Given the description of an element on the screen output the (x, y) to click on. 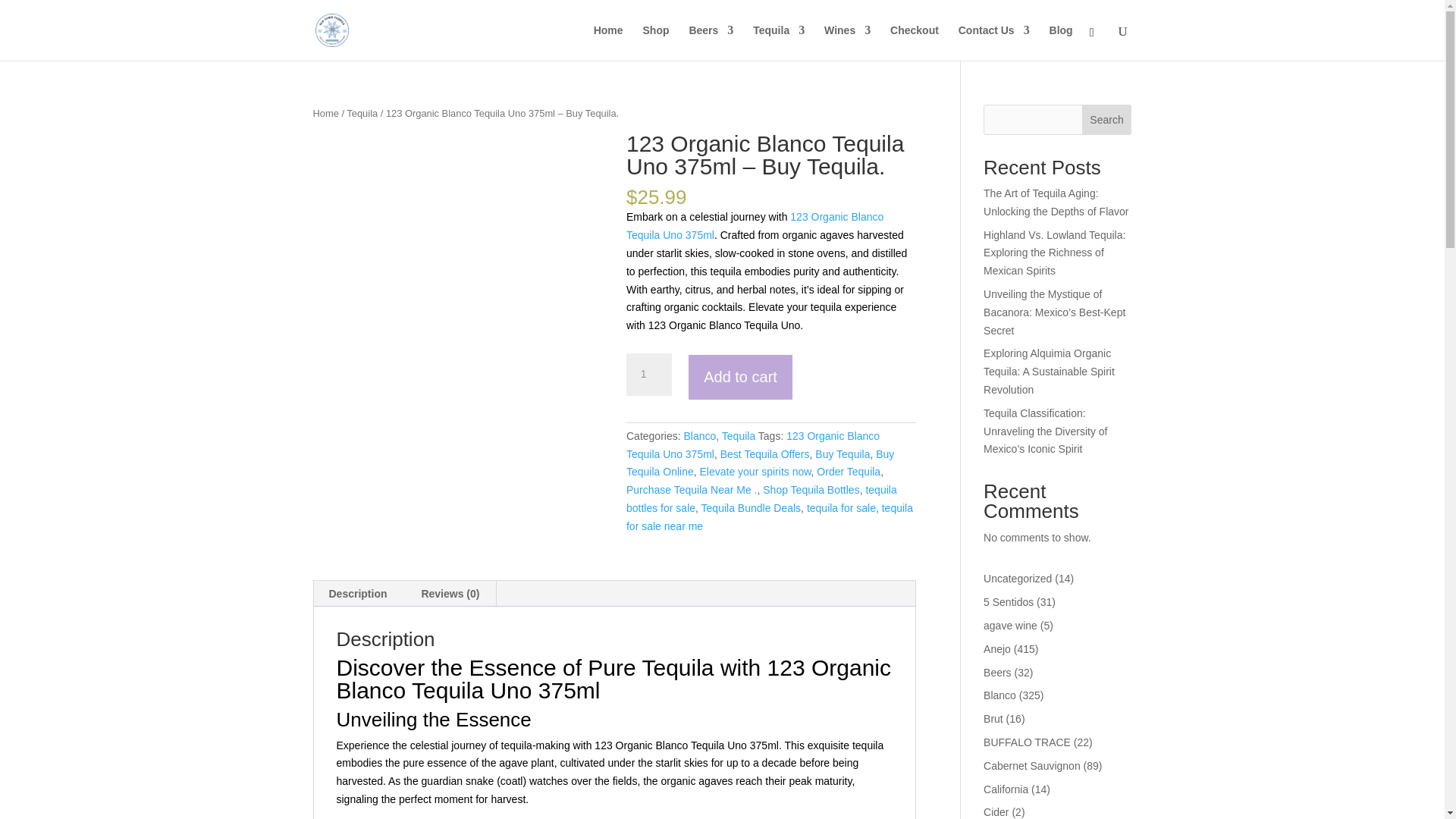
Tequila (361, 112)
Contact Us (993, 42)
Tequila (738, 435)
Wines (847, 42)
1 (648, 373)
Tequila (778, 42)
Best Tequila Offers (764, 453)
Blanco (699, 435)
Beers (710, 42)
Home (325, 112)
Buy Tequila Online (759, 462)
123 Organic Blanco Tequila Uno 375ml (752, 444)
Buy Tequila (842, 453)
123 Organic Blanco Tequila Uno 375ml (754, 225)
Add to cart (740, 376)
